Given the description of an element on the screen output the (x, y) to click on. 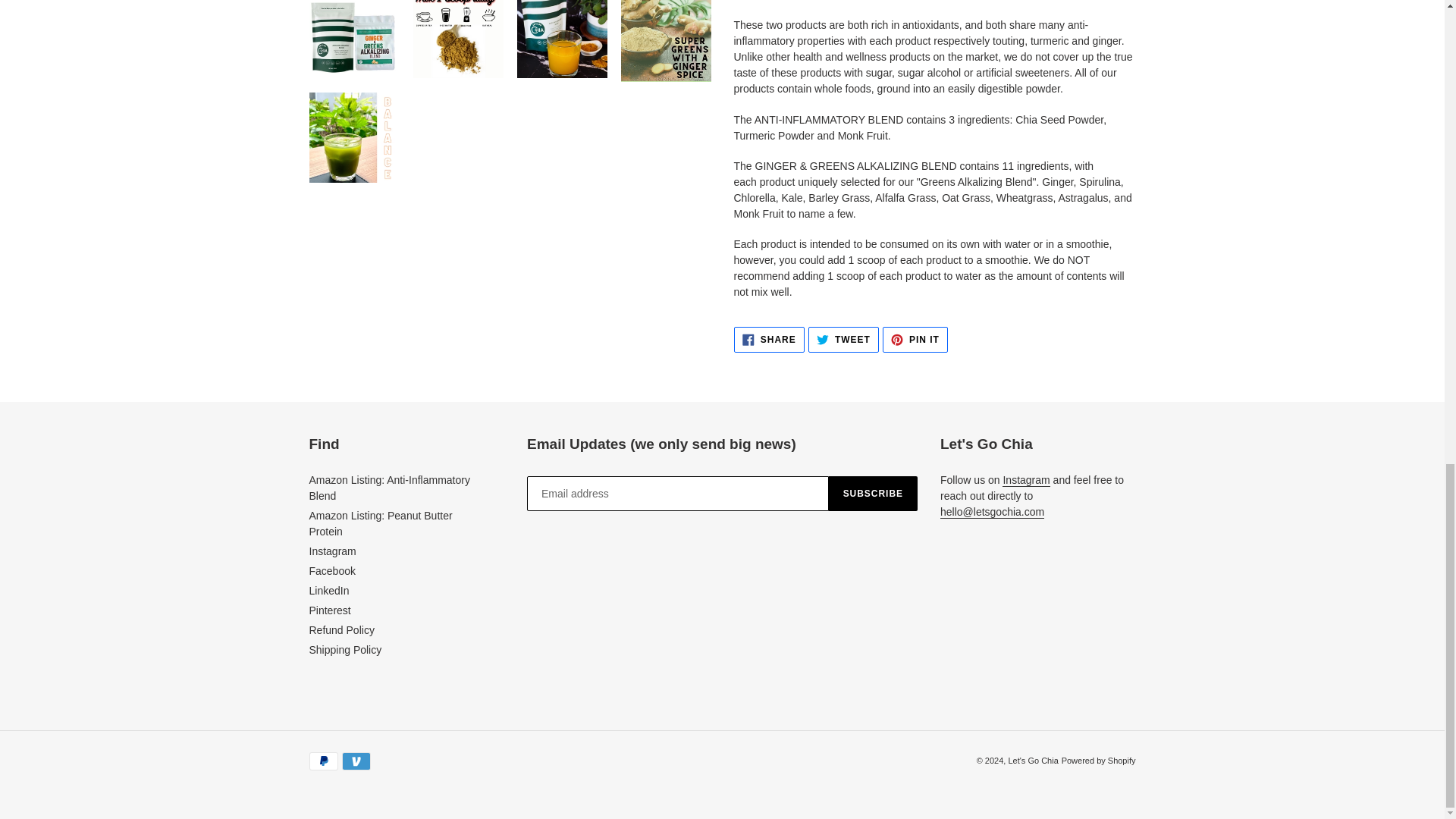
Amazon Listing: Anti-Inflammatory Blend (914, 339)
Facebook (769, 339)
LinkedIn (389, 488)
Amazon Listing: Peanut Butter Protein (331, 571)
Instagram (328, 590)
